Given the description of an element on the screen output the (x, y) to click on. 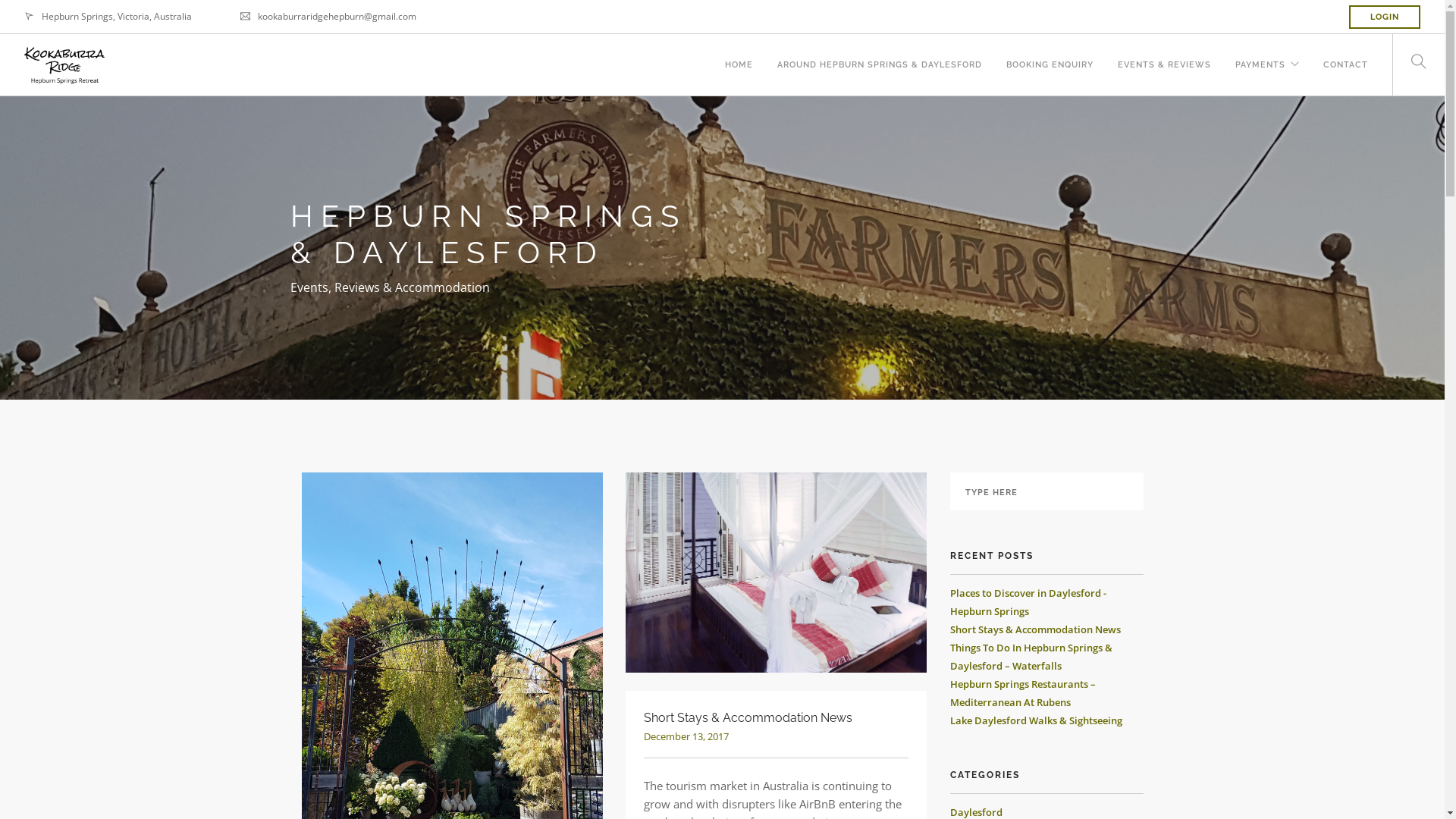
Short Stays & Accommodation News
December 13, 2017 Element type: text (775, 726)
EVENTS & REVIEWS Element type: text (1164, 55)
Short Stays & Accommodation News Element type: text (1034, 629)
Lake Daylesford Walks & Sightseeing Element type: text (1035, 720)
HOME Element type: text (738, 55)
LOGIN Element type: text (1384, 16)
CONTACT Element type: text (1345, 55)
BOOKING ENQUIRY Element type: text (1049, 55)
AROUND HEPBURN SPRINGS & DAYLESFORD Element type: text (879, 55)
Places to Discover in Daylesford -Hepburn Springs Element type: text (1027, 602)
PAYMENTS Element type: text (1260, 55)
